Given the description of an element on the screen output the (x, y) to click on. 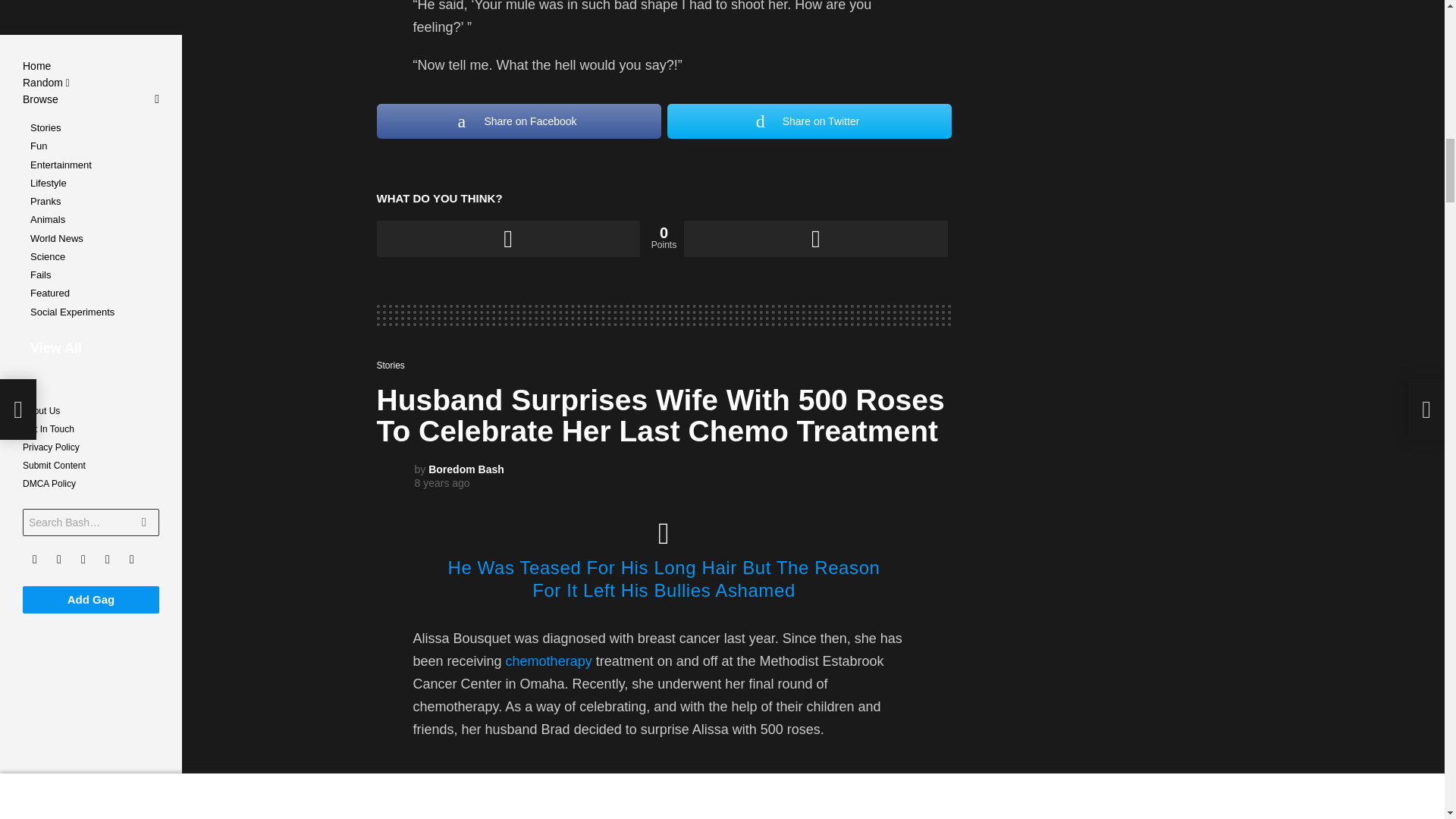
Share on Facebook (518, 121)
Share on Twitter (809, 121)
Posts by Boredom Bash (465, 469)
Share on Share on Twitter (809, 121)
Jul 29, 2016, 7:31 pm (440, 482)
Upvote (507, 238)
Downvote (815, 238)
Downvote (815, 238)
Upvote (507, 238)
Stories (392, 365)
Share on Share on Facebook (518, 121)
